Given the description of an element on the screen output the (x, y) to click on. 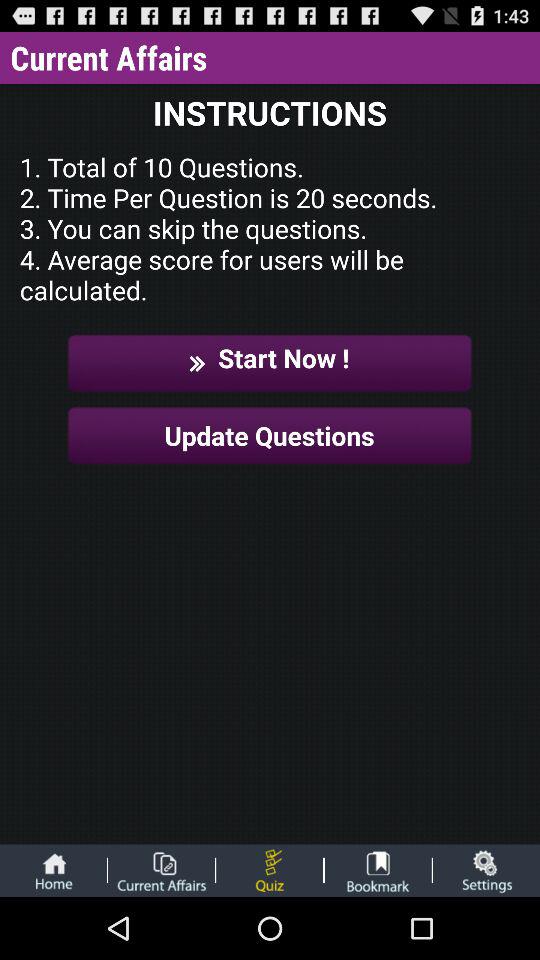
launch the button below update questions icon (269, 870)
